Given the description of an element on the screen output the (x, y) to click on. 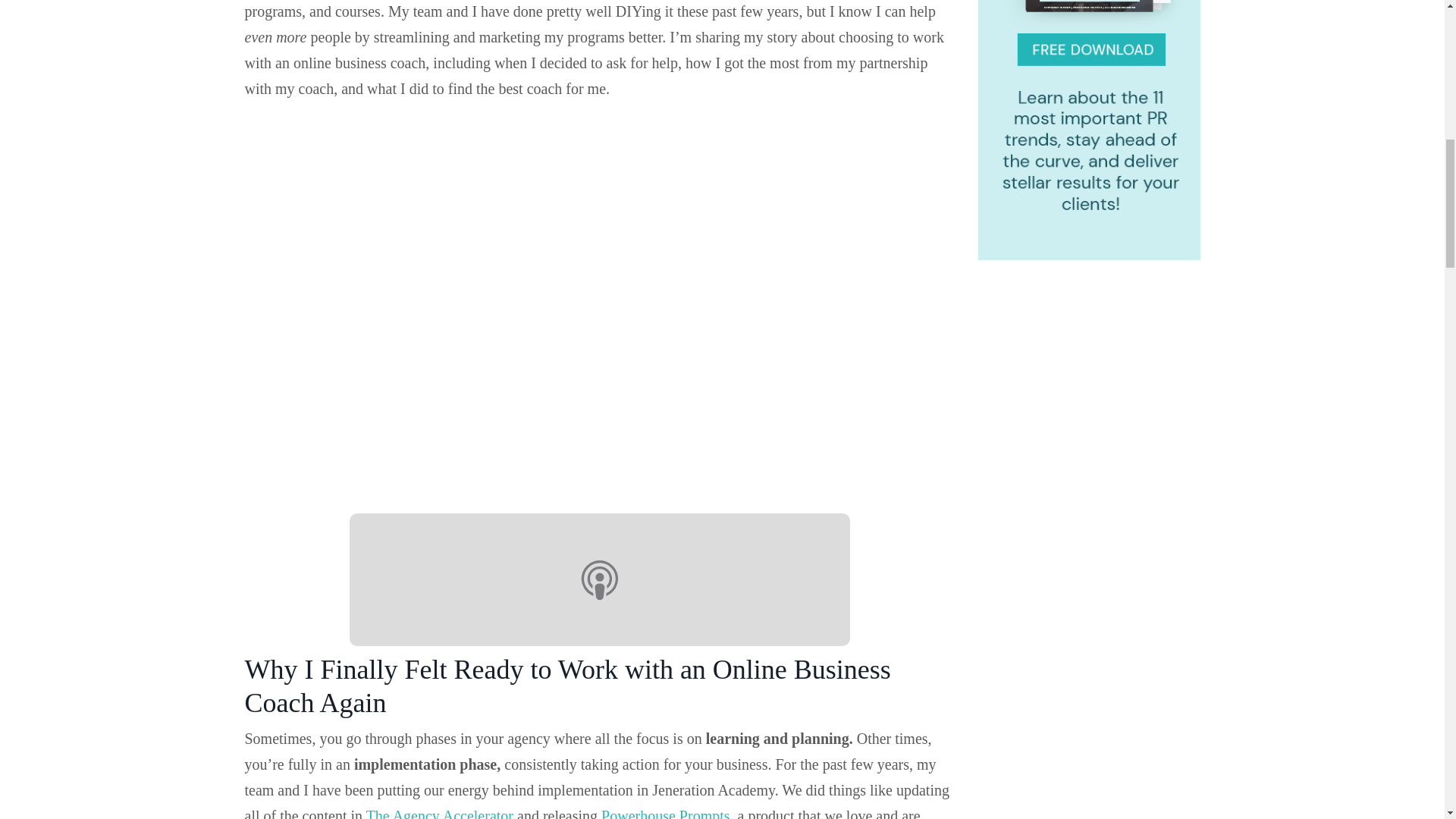
The Agency Accelerator (439, 813)
Powerhouse Prompts (665, 813)
